Given the description of an element on the screen output the (x, y) to click on. 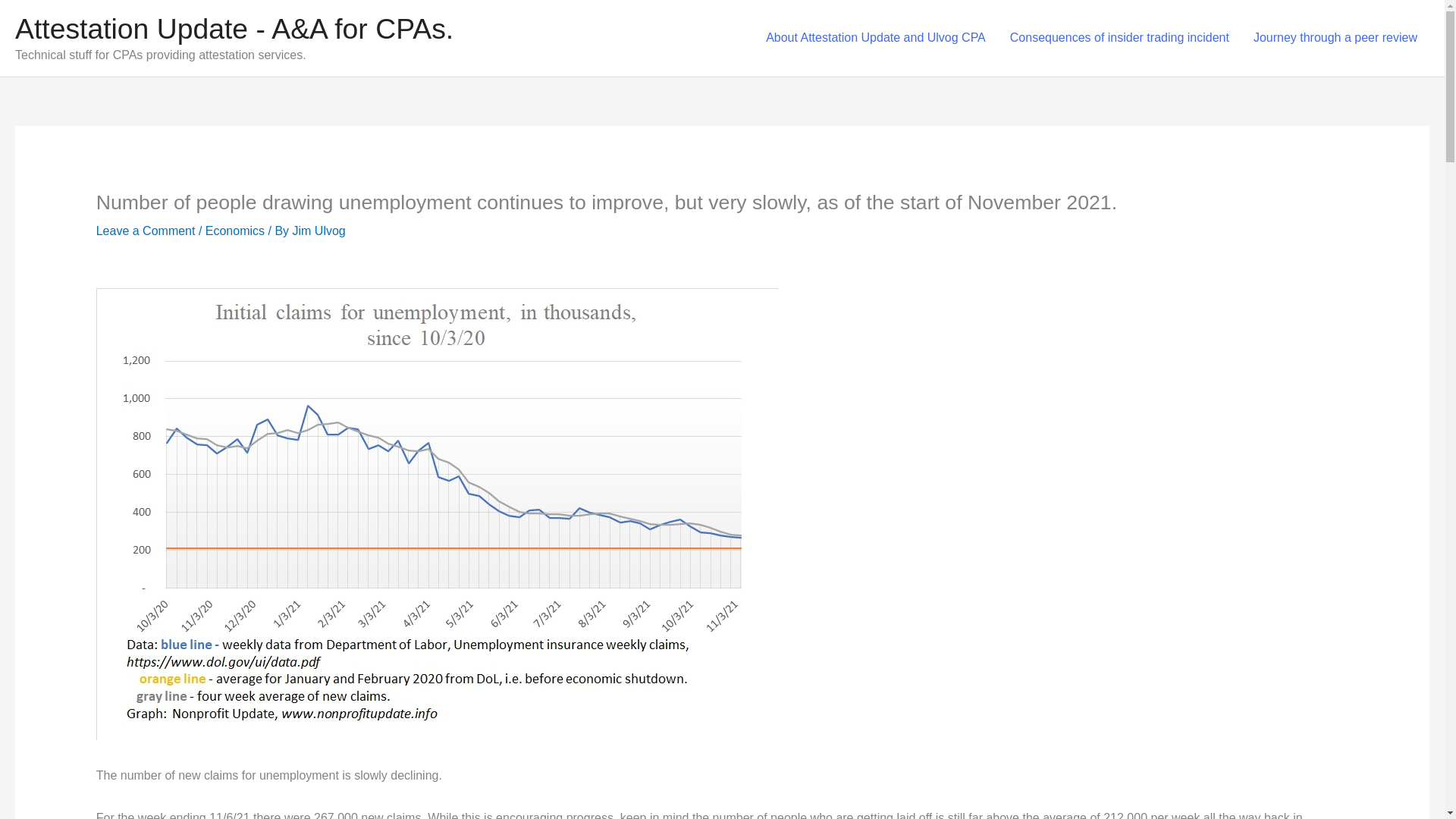
Economics (234, 230)
About Attestation Update and Ulvog CPA (875, 37)
Jim Ulvog (319, 230)
Journey through a peer review (1335, 37)
Consequences of insider trading incident (1119, 37)
Leave a Comment (145, 230)
View all posts by Jim Ulvog (319, 230)
